Given the description of an element on the screen output the (x, y) to click on. 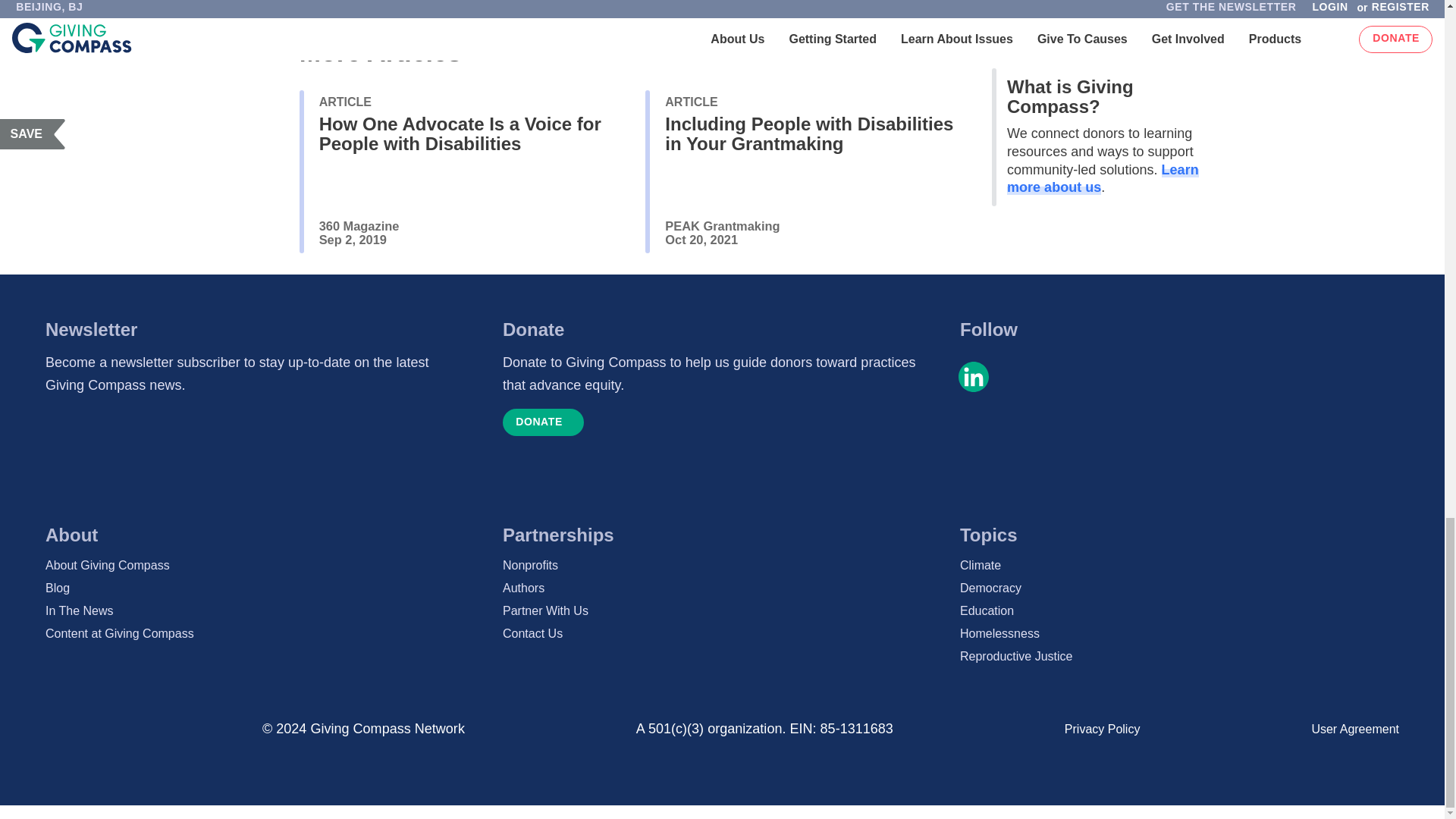
Reproductive Justice (1179, 656)
Education (1179, 610)
Nonprofit Trends (543, 0)
Nonprofits (722, 565)
Authors (722, 588)
North America (429, 0)
About Giving Compass (264, 565)
Blog (264, 588)
Contact Us (722, 633)
Climate (1179, 565)
Content at Giving Compass (264, 633)
Form 0 (254, 457)
In The News (264, 610)
